Given the description of an element on the screen output the (x, y) to click on. 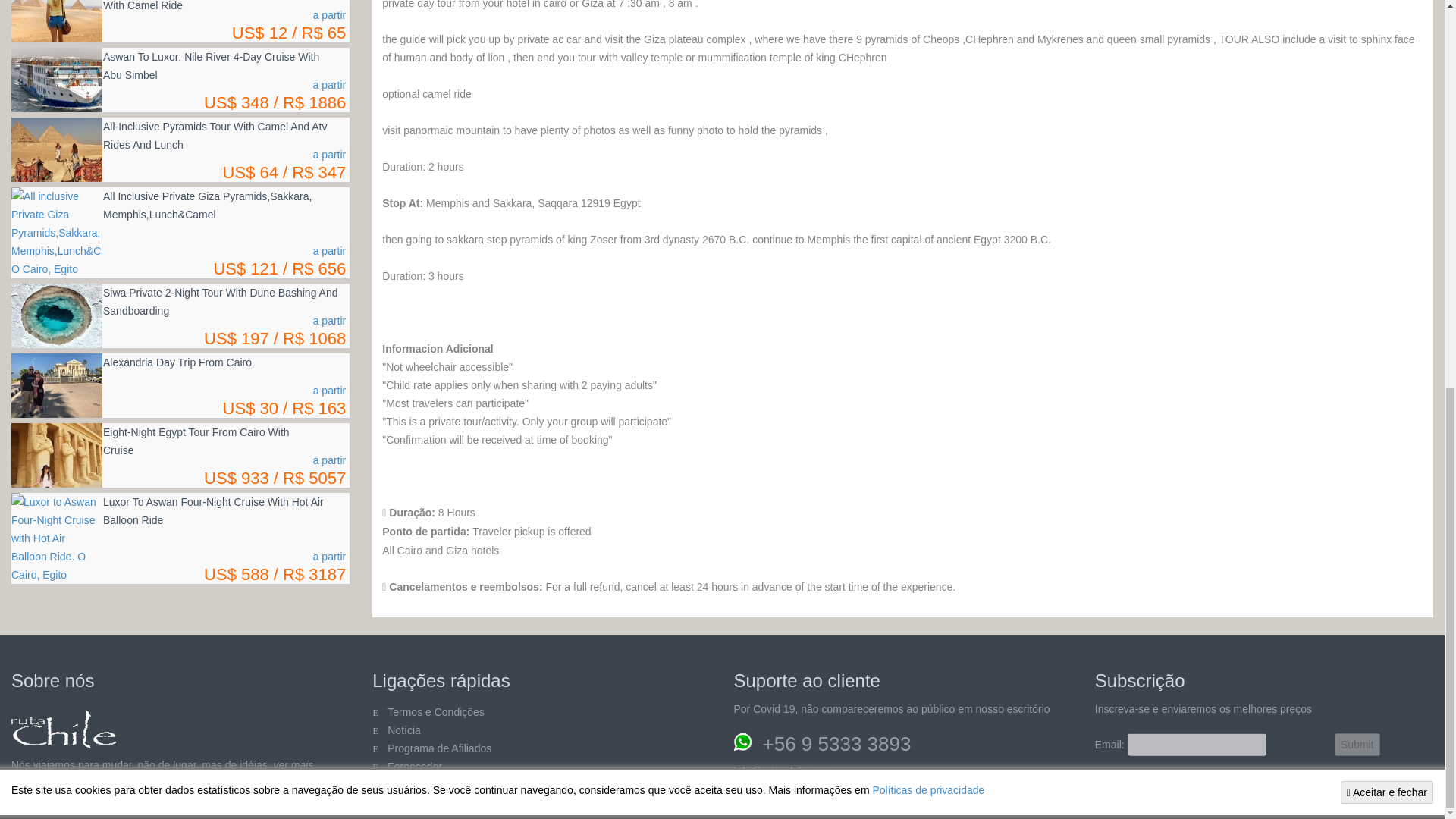
Quick Links (414, 766)
Pinterest (87, 801)
Submit (1357, 744)
Quick Links (435, 711)
Programa de Afiliados (439, 748)
Youtube (116, 801)
Instagram (145, 801)
Facebook (57, 801)
Twitter (27, 801)
Quick Links (406, 784)
Quick Links (403, 729)
